Given the description of an element on the screen output the (x, y) to click on. 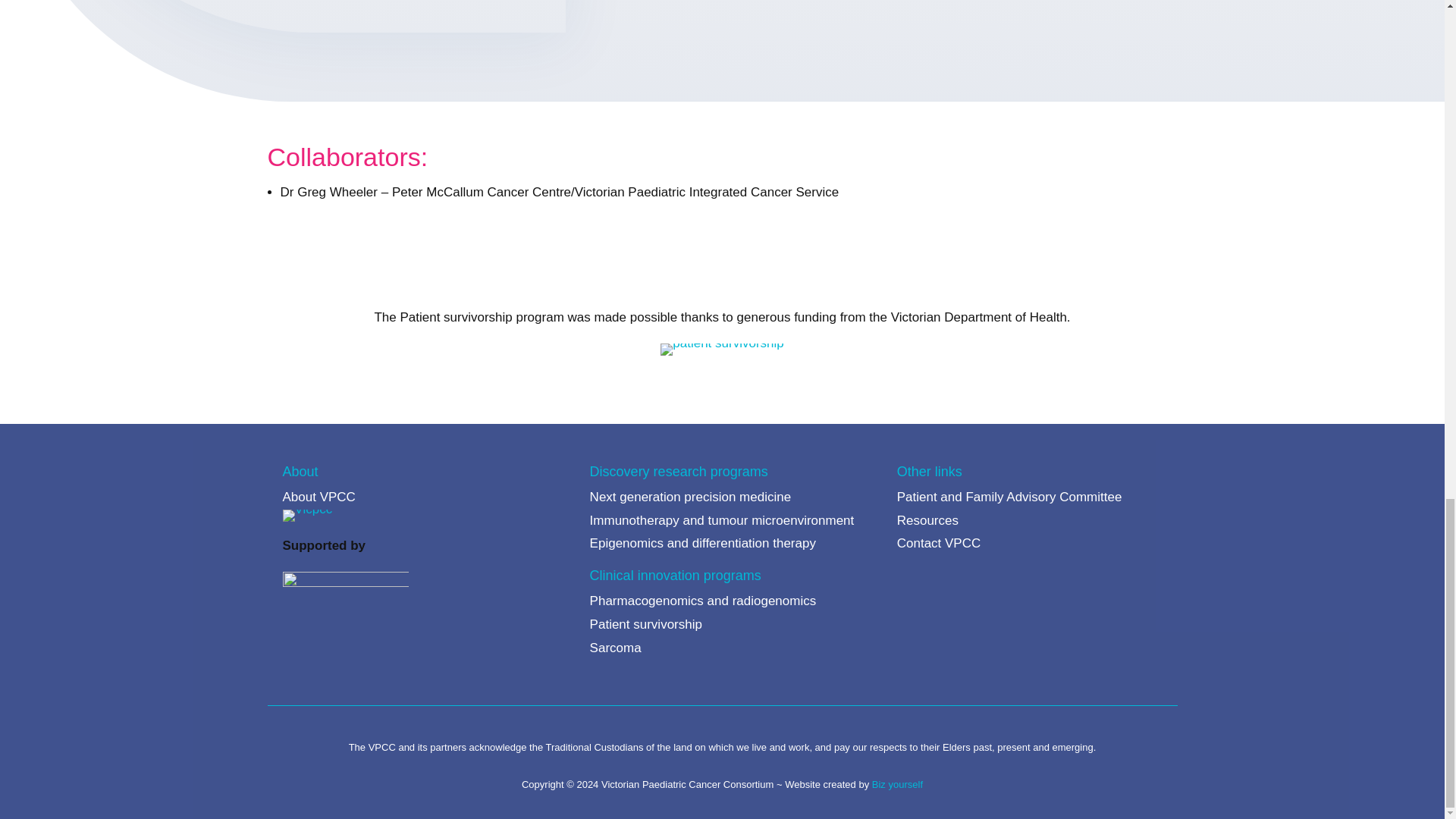
vic-dh-logo (722, 349)
cdc-T (294, 15)
Biz yourself (897, 784)
MRFF (344, 588)
